Given the description of an element on the screen output the (x, y) to click on. 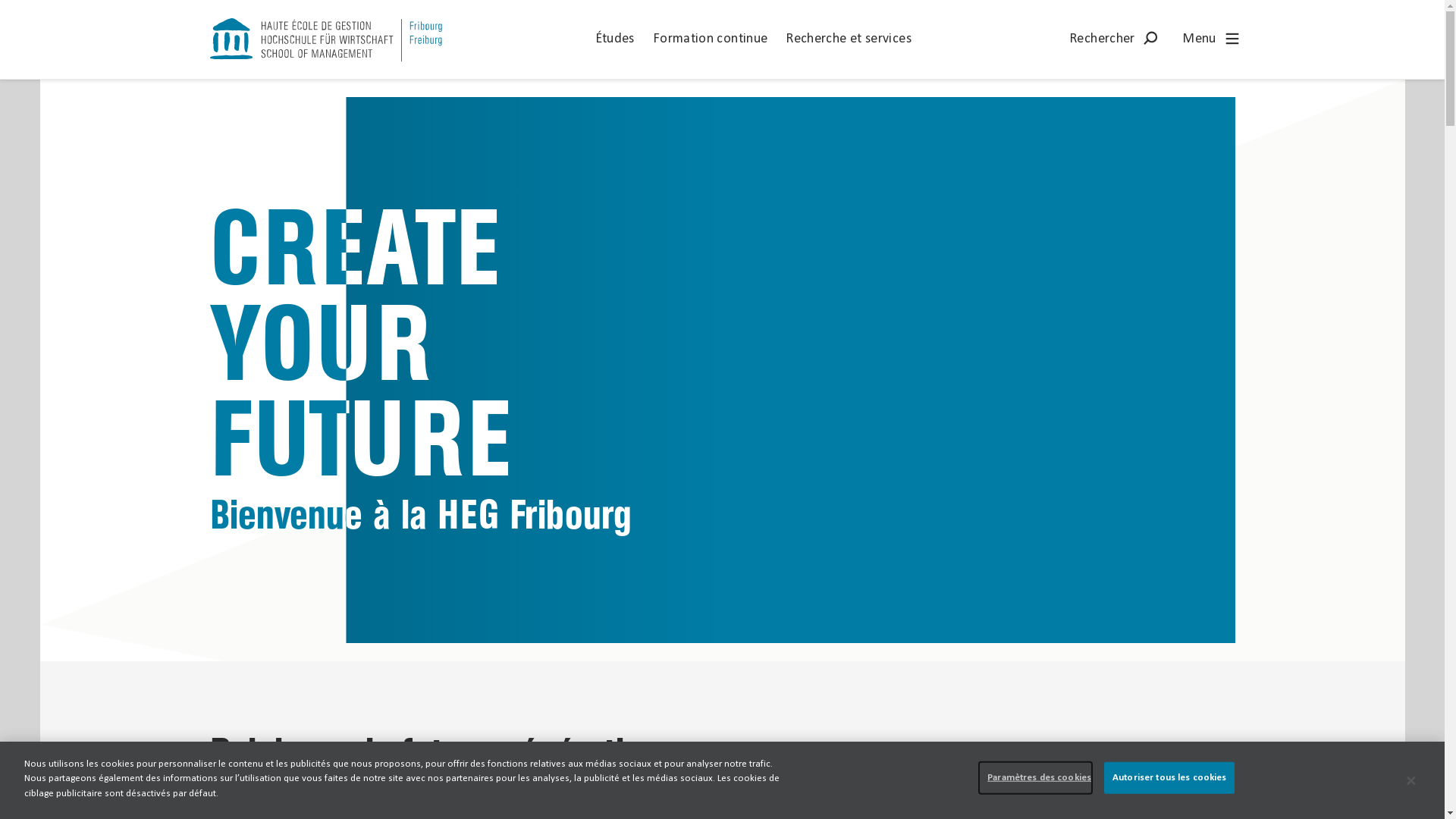
Autoriser tous les cookies Element type: text (1169, 777)
Formation continue Element type: text (709, 39)
Rechercher Element type: text (1116, 38)
Menu Element type: text (1213, 38)
Recherche et services Element type: text (848, 39)
